Given the description of an element on the screen output the (x, y) to click on. 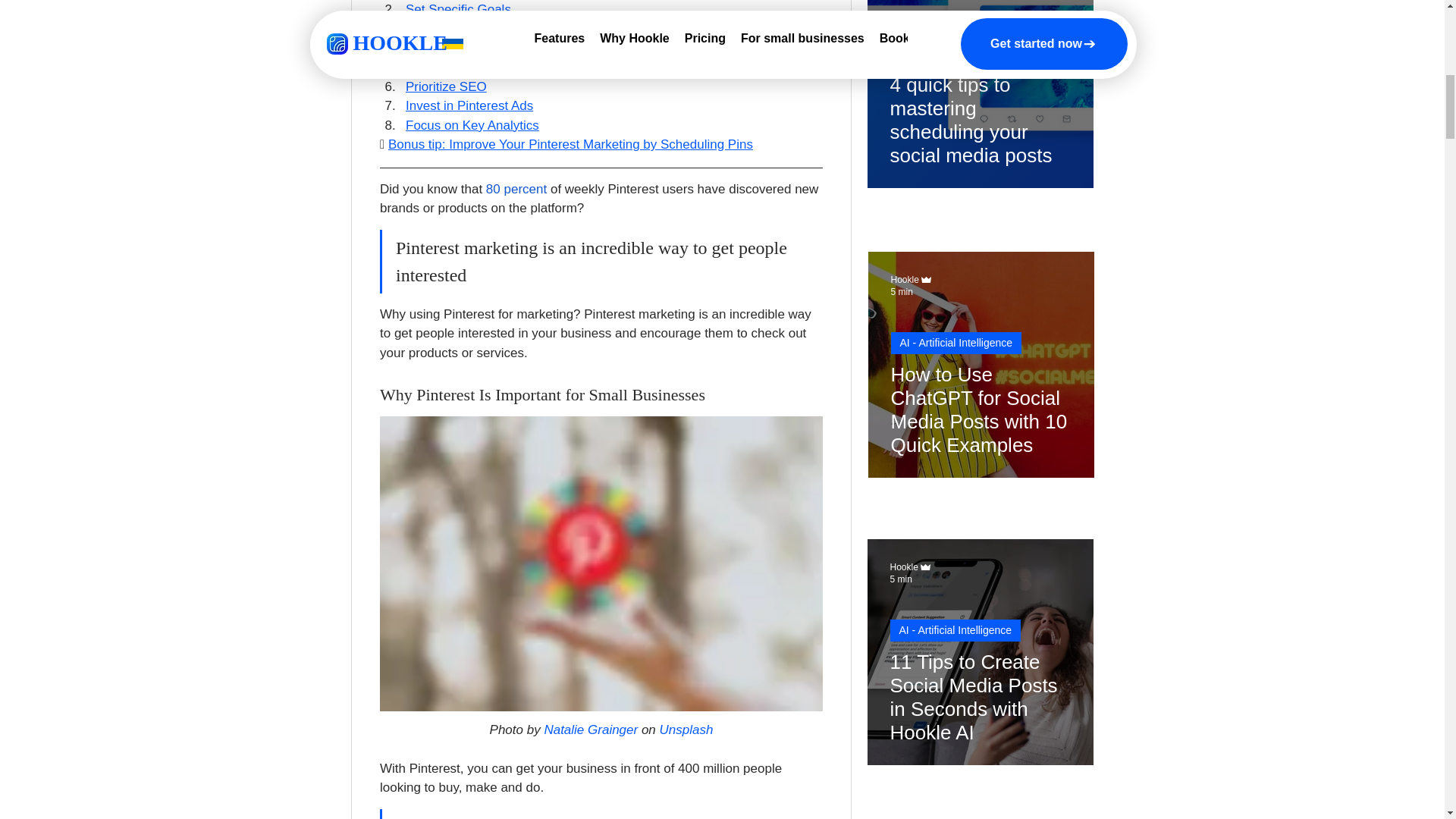
5 min (900, 579)
Hookle (903, 279)
5 min (900, 291)
Hookle (903, 566)
